Given the description of an element on the screen output the (x, y) to click on. 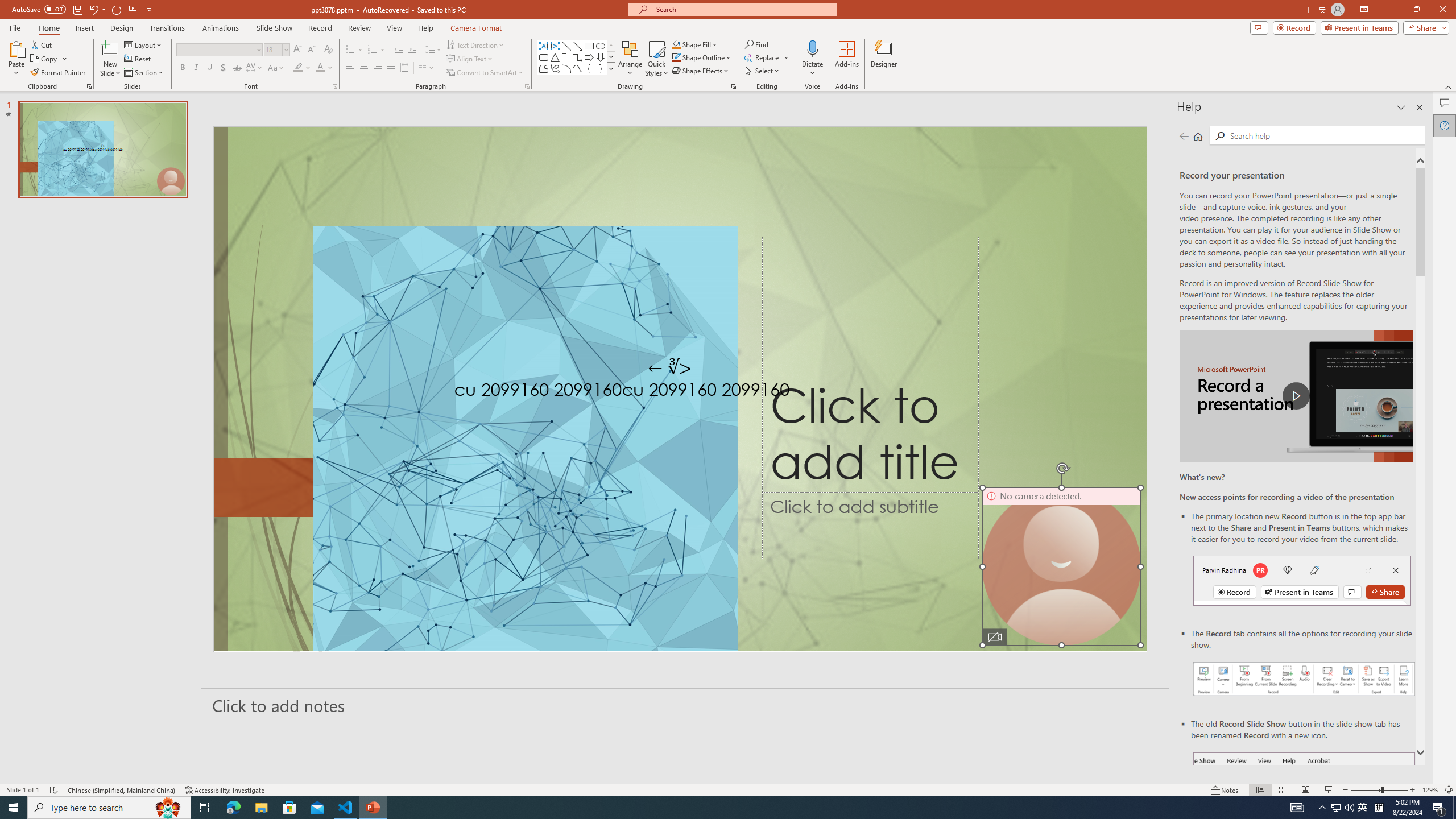
Shape Outline Green, Accent 1 (675, 56)
Subtitle TextBox (869, 525)
Camera Format (475, 28)
